Given the description of an element on the screen output the (x, y) to click on. 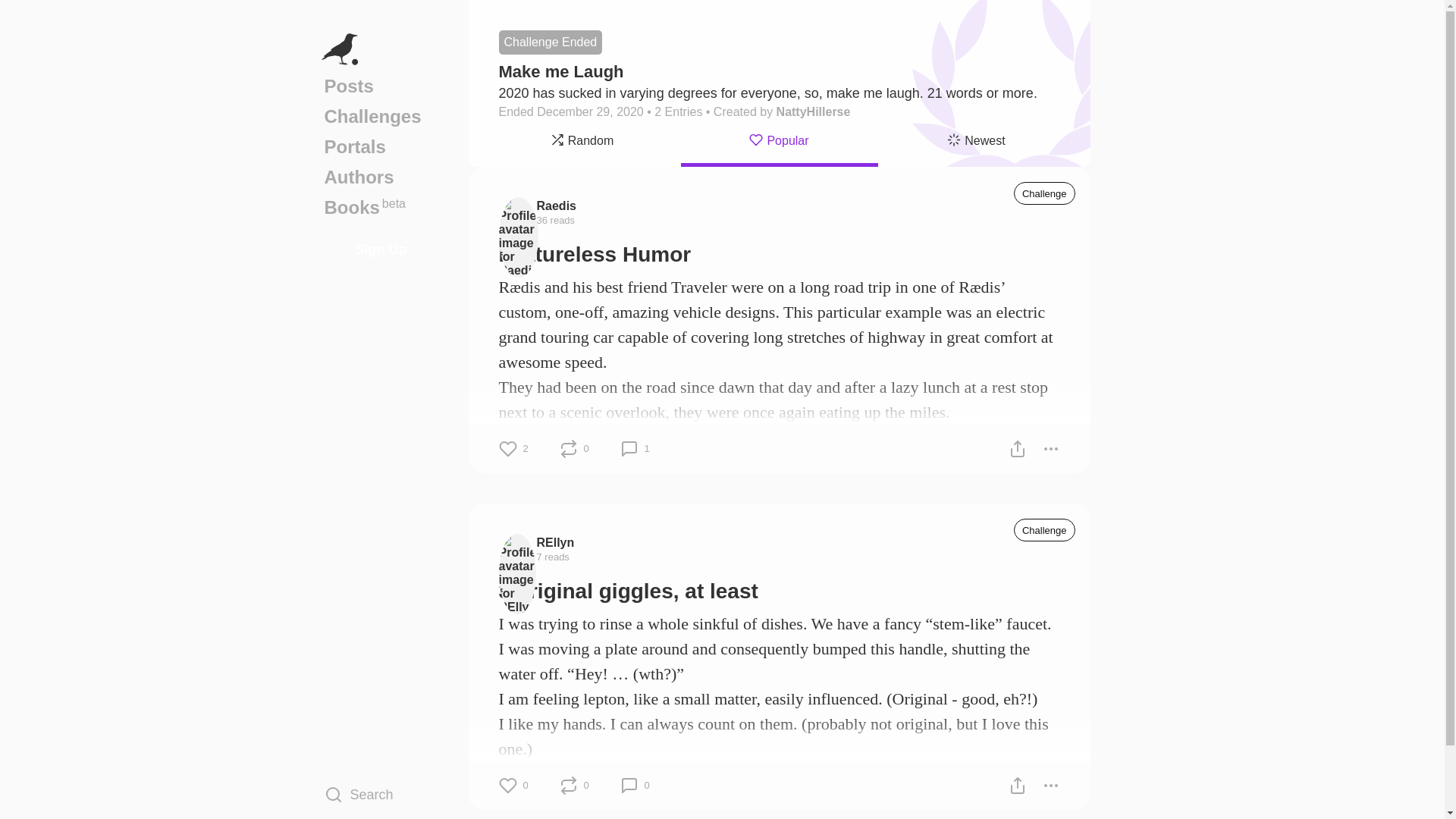
Popular (779, 142)
Random (582, 142)
Search (381, 794)
Raedis (556, 205)
REllyn (556, 541)
Portals (381, 146)
NattyHillerse (813, 111)
Challenge (1044, 192)
Posts (381, 86)
Challenges (381, 116)
